Given the description of an element on the screen output the (x, y) to click on. 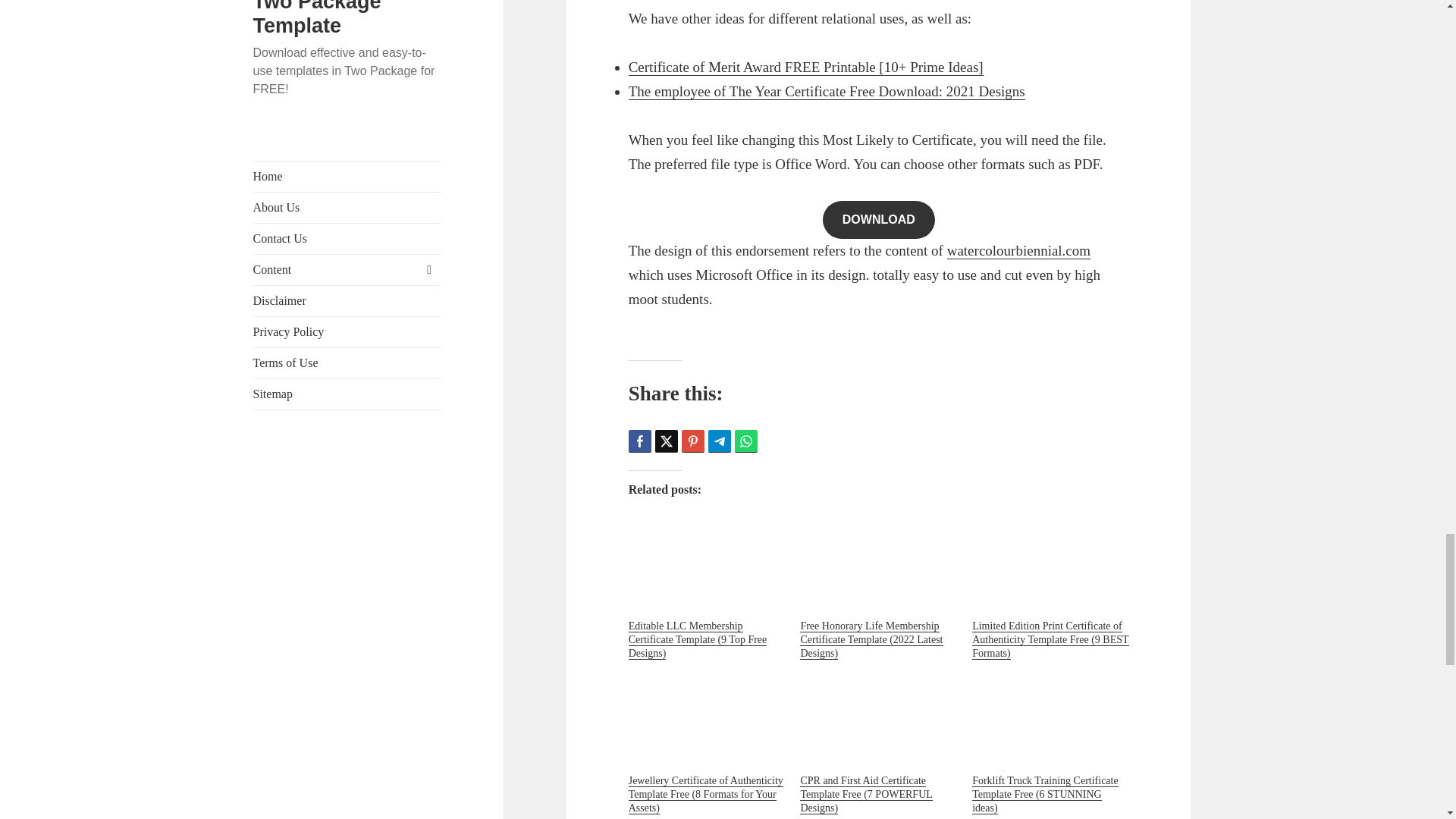
DOWNLOAD (878, 219)
Whatsapp (746, 440)
watercolourbiennial.com (1018, 250)
Pin this (692, 440)
Telegram Share (718, 440)
Share this (639, 440)
Tweet this (666, 440)
